Given the description of an element on the screen output the (x, y) to click on. 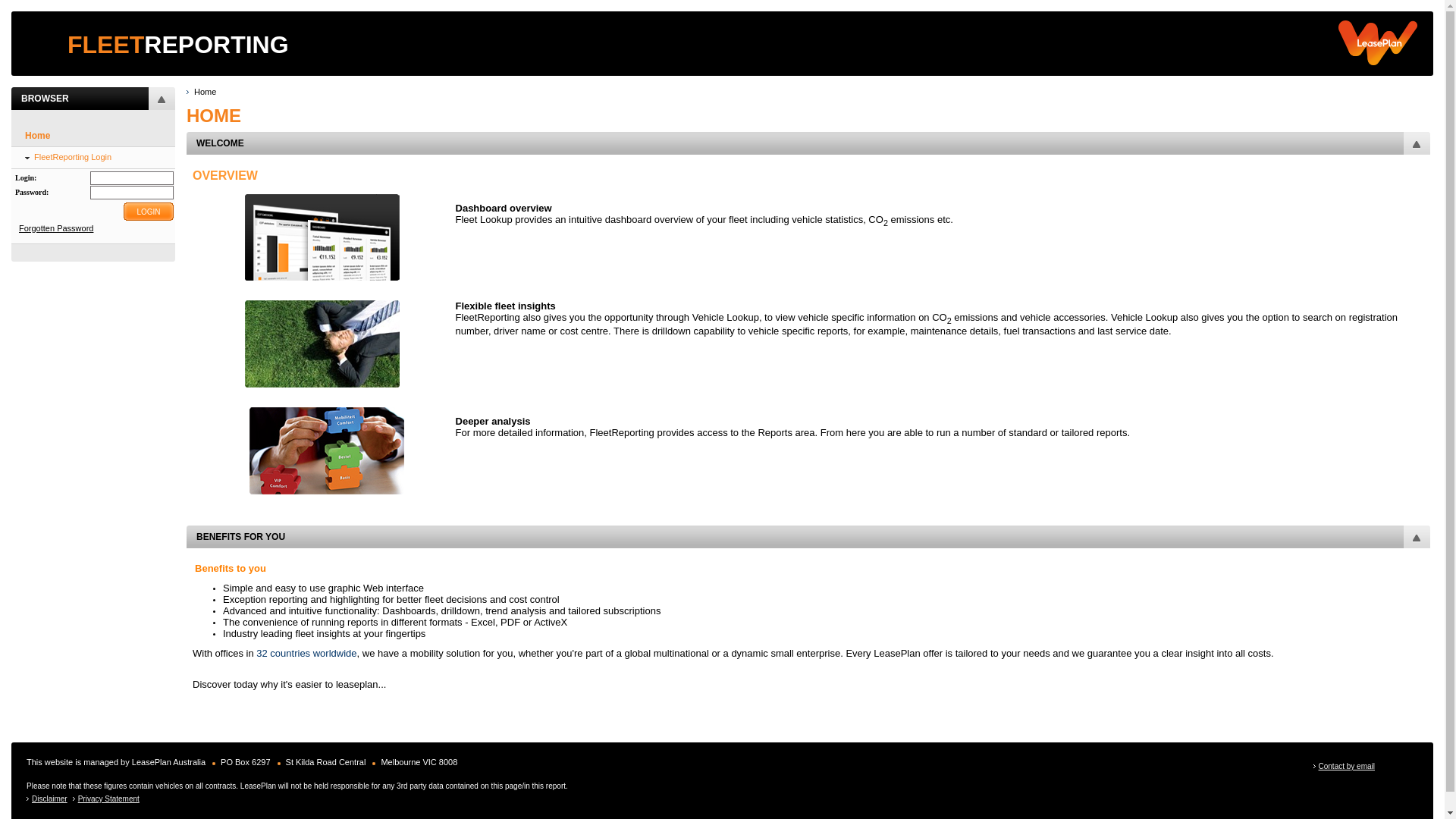
Disclaimer Element type: text (49, 798)
Minimize Element type: hover (1416, 536)
Flexible fleet intelligence Element type: hover (321, 343)
LOGIN Element type: text (148, 211)
Contact by email Element type: text (1346, 766)
Minimize Element type: hover (1416, 142)
Deeper Analysis Element type: hover (326, 450)
Dashboard overview Element type: hover (321, 237)
Forgotten Password Element type: text (55, 227)
Privacy Statement Element type: text (108, 798)
32 countries worldwide Element type: text (306, 652)
